Given the description of an element on the screen output the (x, y) to click on. 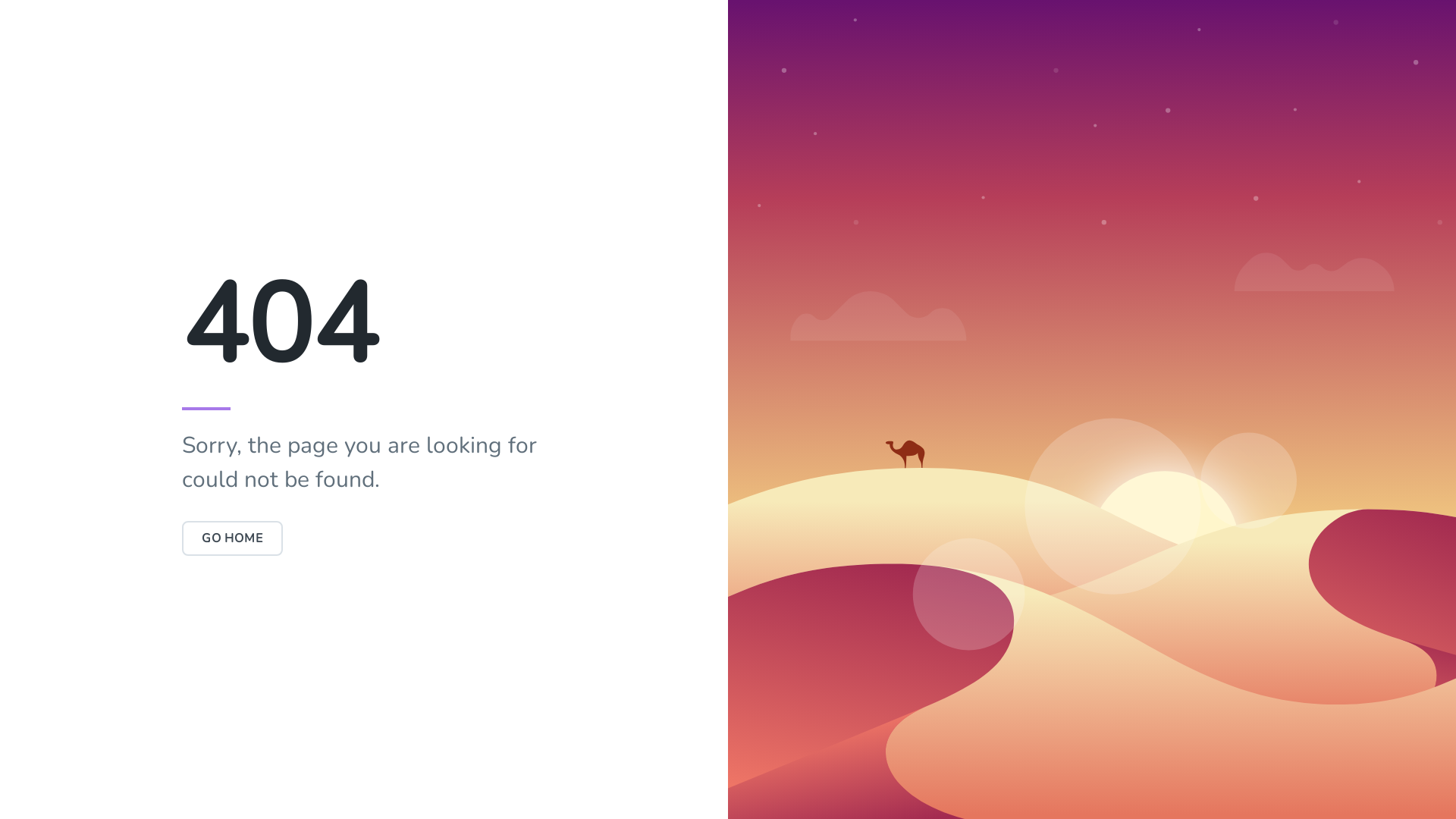
GO HOME Element type: text (232, 538)
GO HOME Element type: text (232, 537)
